Given the description of an element on the screen output the (x, y) to click on. 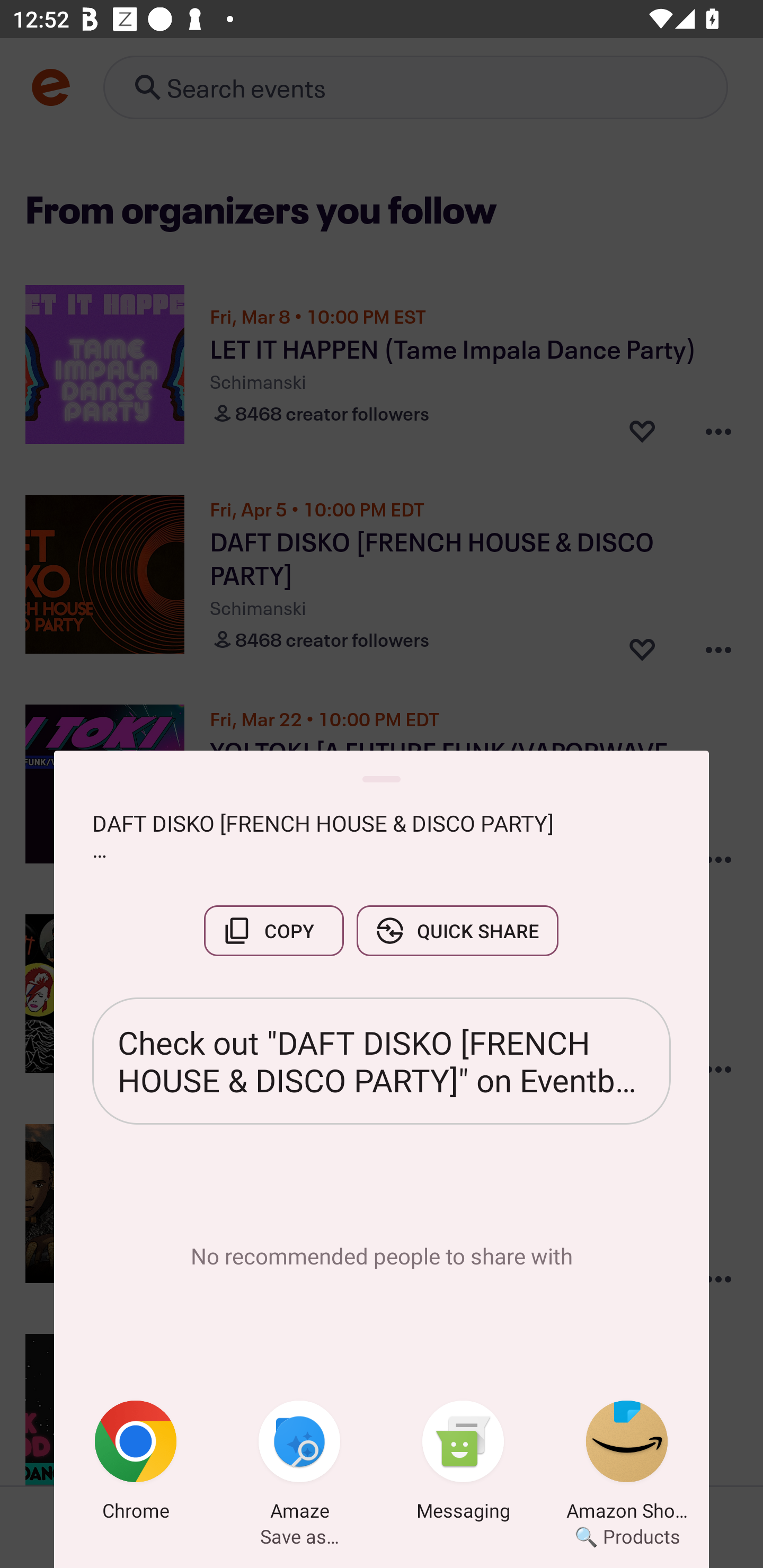
COPY (273, 930)
QUICK SHARE (457, 930)
Chrome (135, 1463)
Amaze Save as… (299, 1463)
Messaging (463, 1463)
Amazon Shopping 🔍 Products (626, 1463)
